Given the description of an element on the screen output the (x, y) to click on. 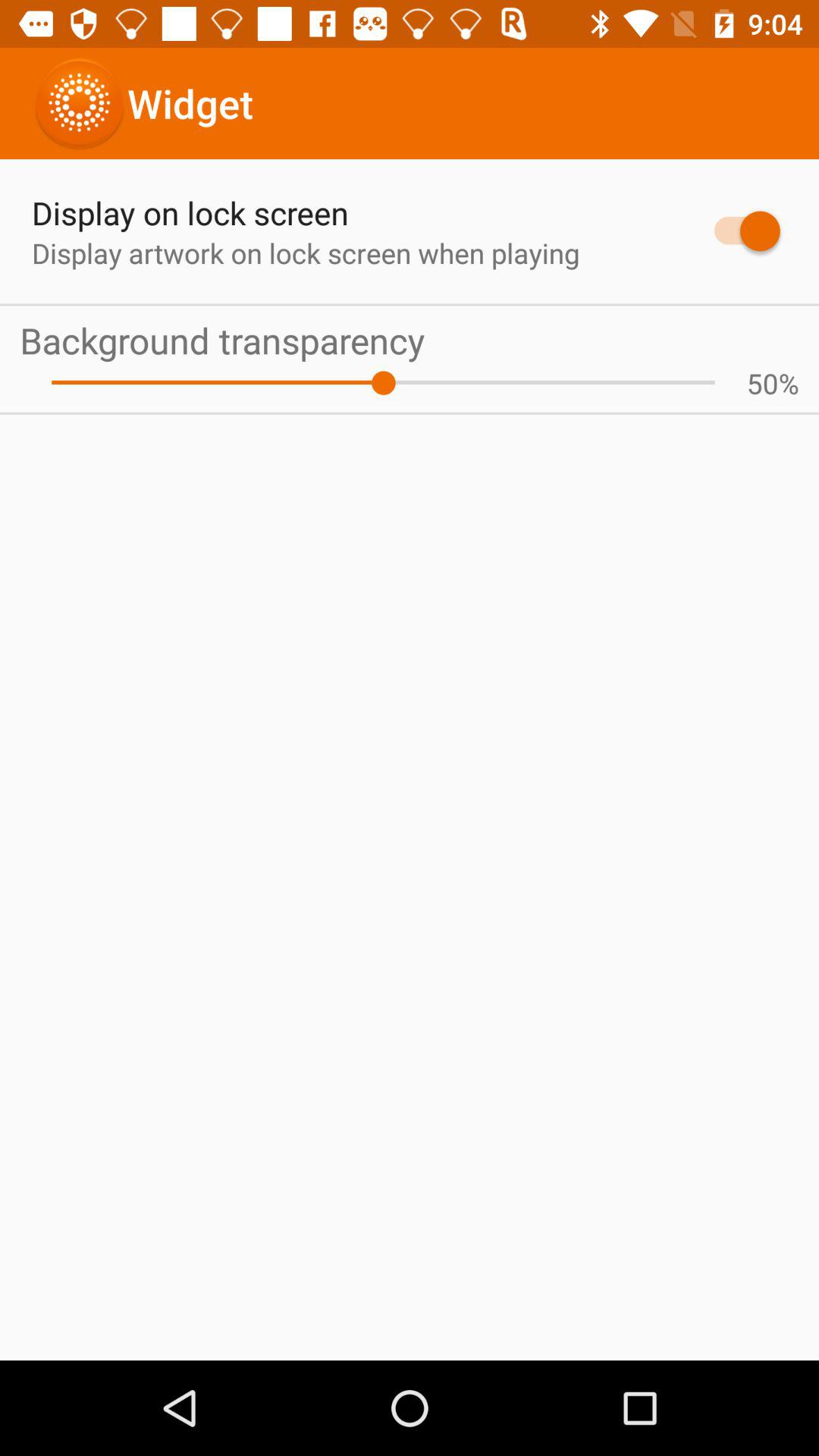
click the icon below display artwork on app (409, 340)
